Given the description of an element on the screen output the (x, y) to click on. 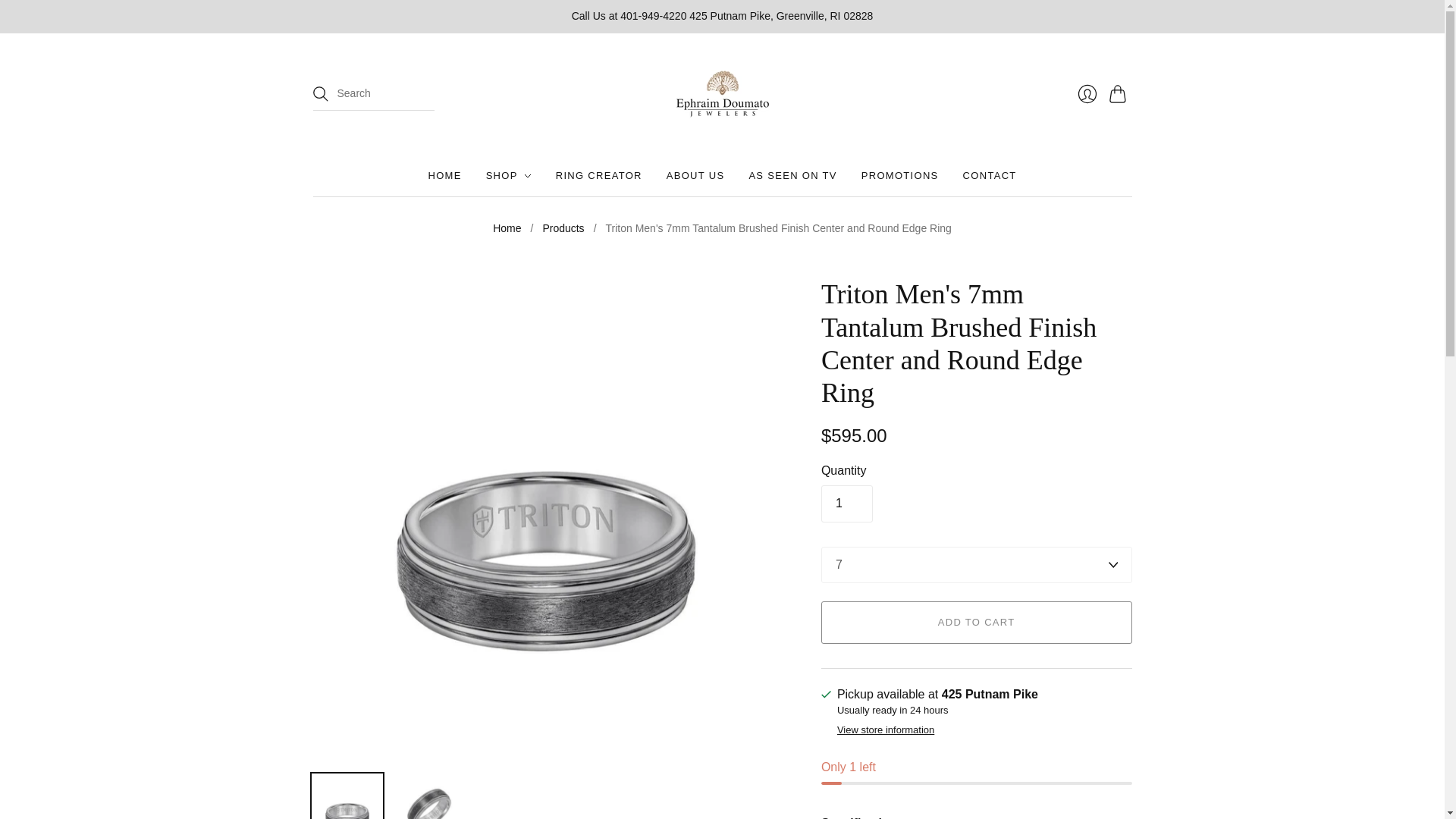
1 (846, 503)
CONTACT (989, 175)
PROMOTIONS (900, 175)
RING CREATOR (599, 175)
AS SEEN ON TV (791, 175)
Login (1086, 93)
Cart (1119, 93)
ABOUT US (695, 175)
HOME (444, 175)
